Given the description of an element on the screen output the (x, y) to click on. 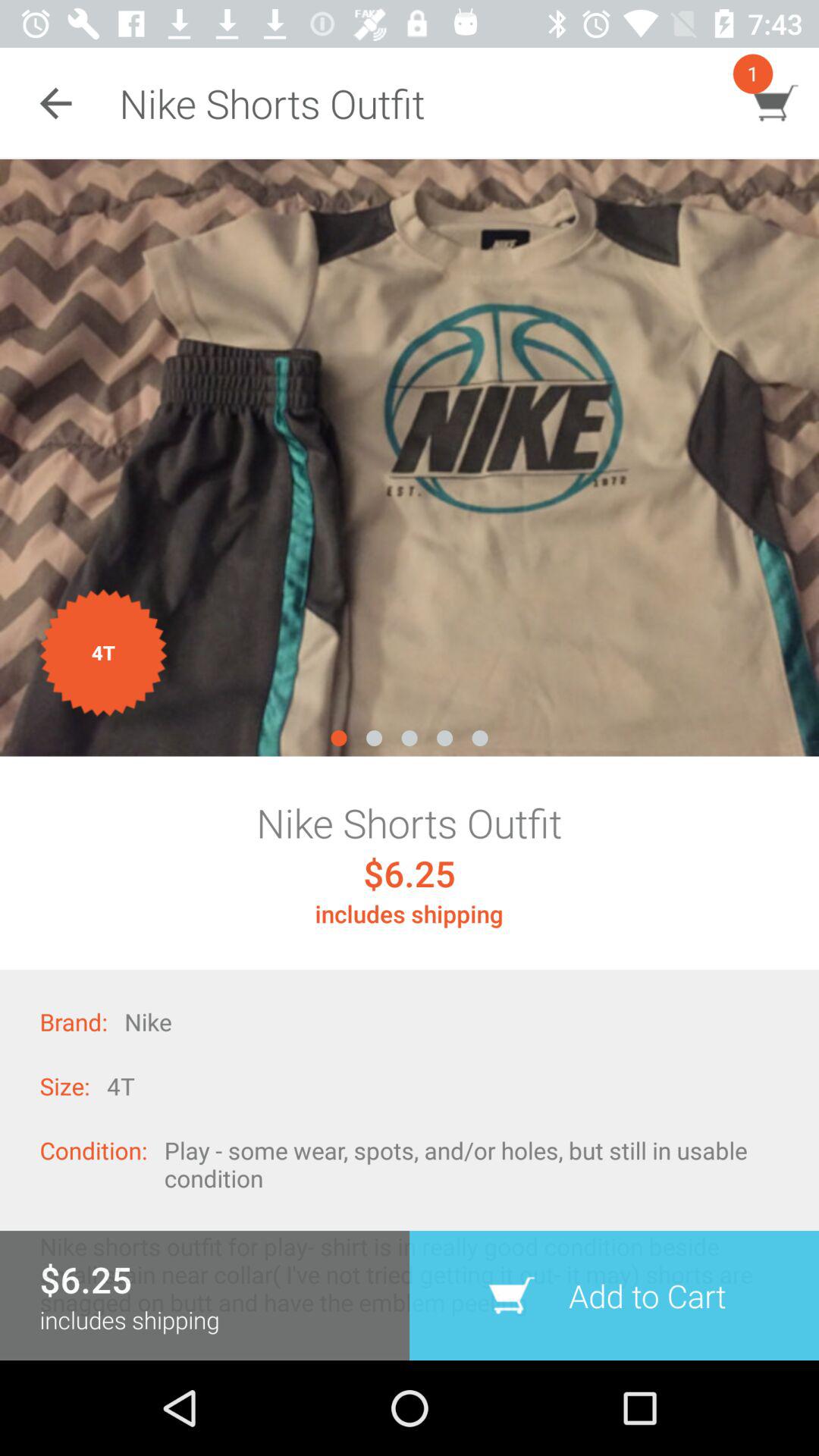
select the icon to the right of the includes shipping (614, 1295)
